Given the description of an element on the screen output the (x, y) to click on. 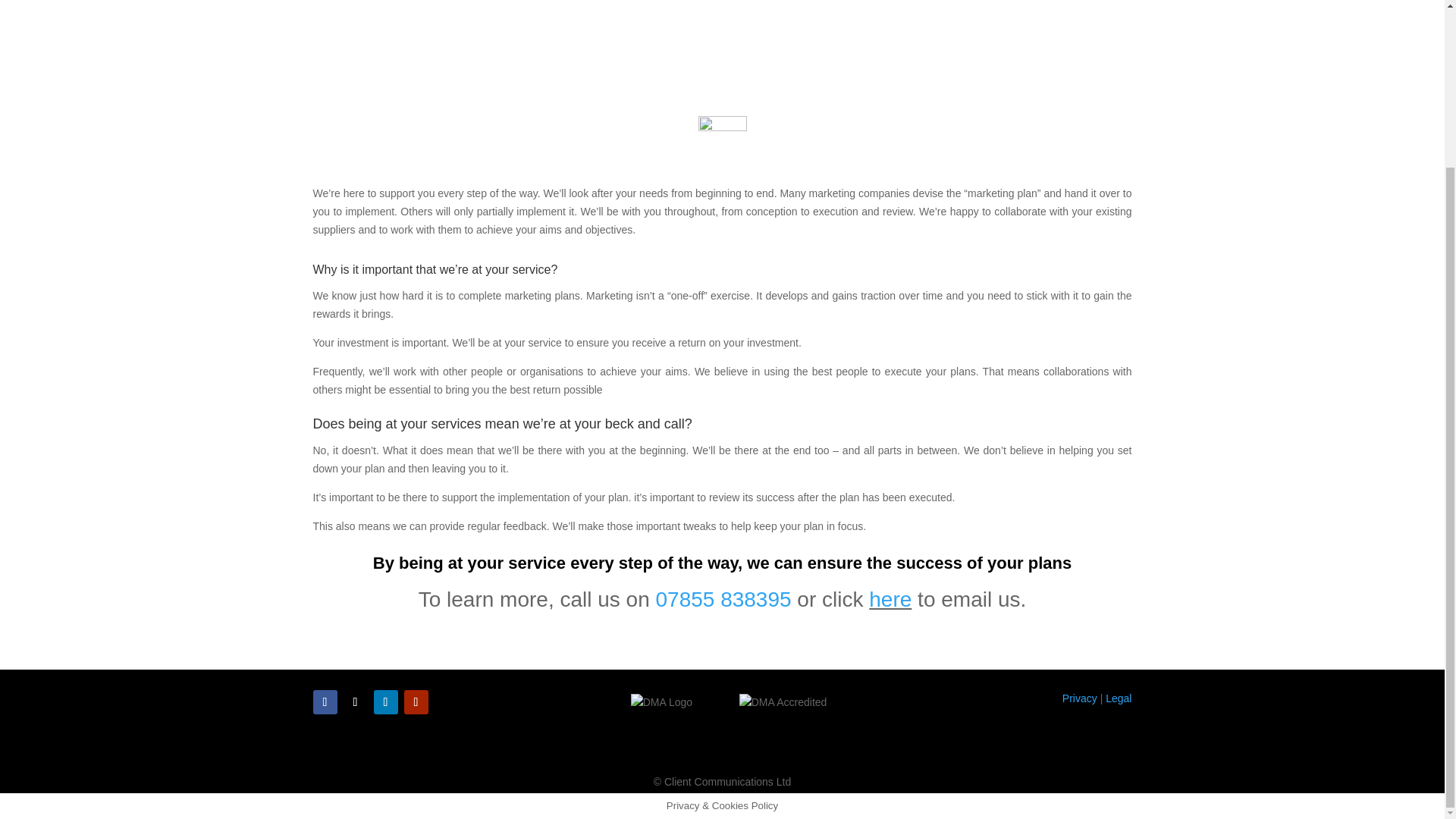
64x64x8 (721, 127)
07855 838395 (724, 599)
Legal (1118, 698)
Follow on Youtube (415, 702)
Follow on LinkedIn (384, 702)
Follow on Facebook (324, 702)
Follow on X (354, 702)
Privacy (1079, 698)
here (890, 599)
